Given the description of an element on the screen output the (x, y) to click on. 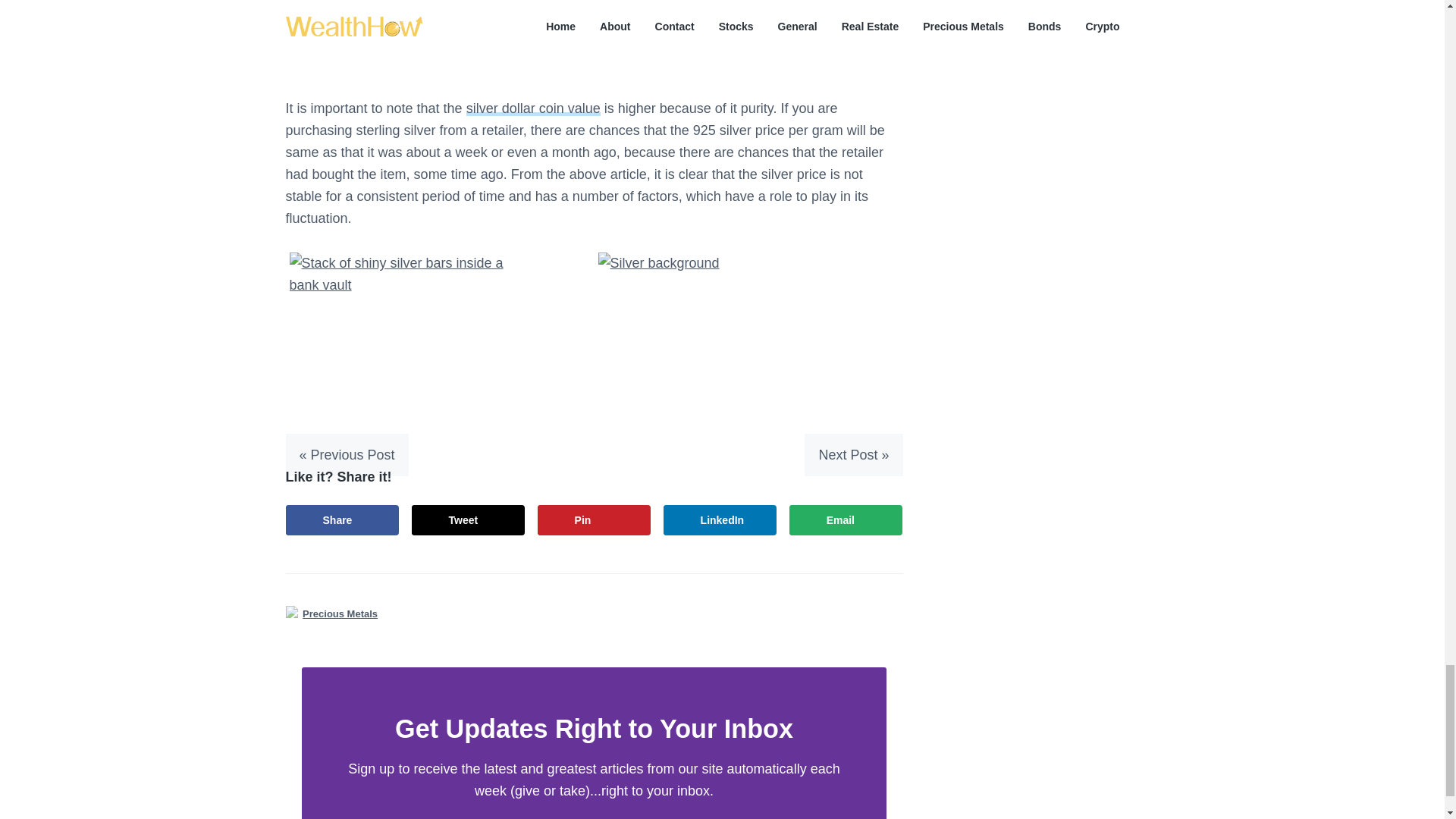
Pin (593, 520)
Share (341, 520)
Save to Pinterest (593, 520)
Share on LinkedIn (720, 520)
Email (845, 520)
Tweet (468, 520)
Share on X (468, 520)
Send over email (845, 520)
LinkedIn (720, 520)
Share on Facebook (341, 520)
